Given the description of an element on the screen output the (x, y) to click on. 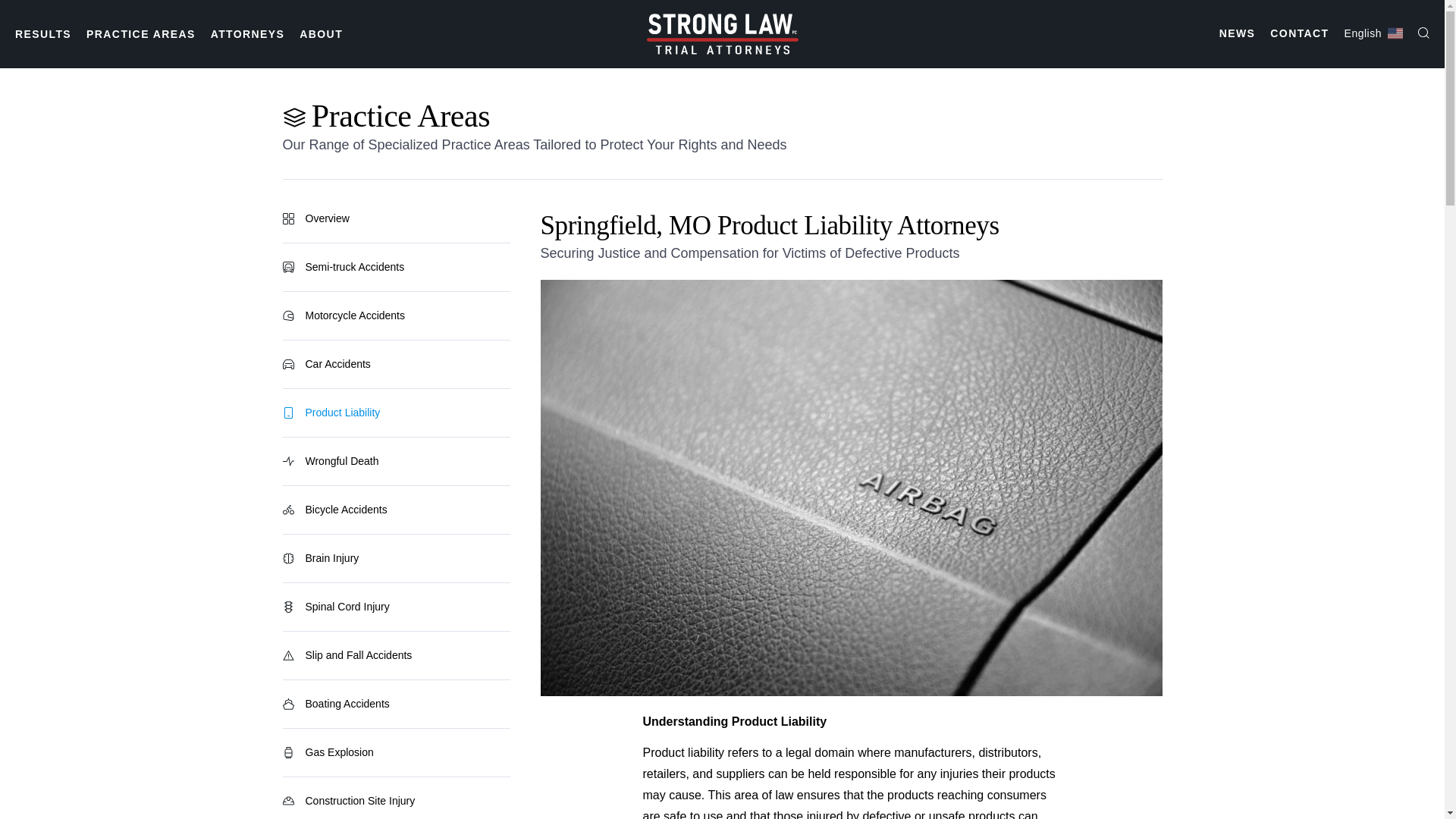
NEWS (1237, 33)
CONTACT (1298, 33)
ATTORNEYS (248, 33)
ABOUT (320, 33)
English (1373, 32)
PRACTICE AREAS (140, 33)
RESULTS (42, 33)
